Given the description of an element on the screen output the (x, y) to click on. 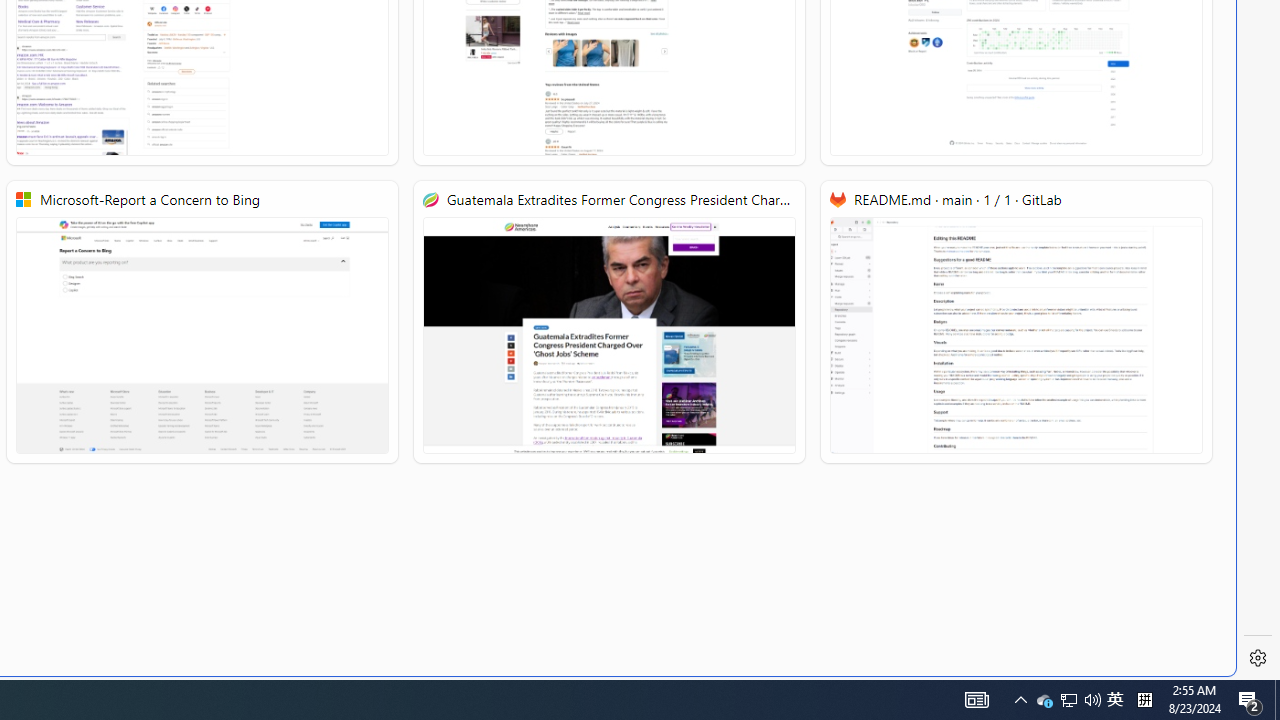
Microsoft-Report a Concern to Bing (202, 321)
